Given the description of an element on the screen output the (x, y) to click on. 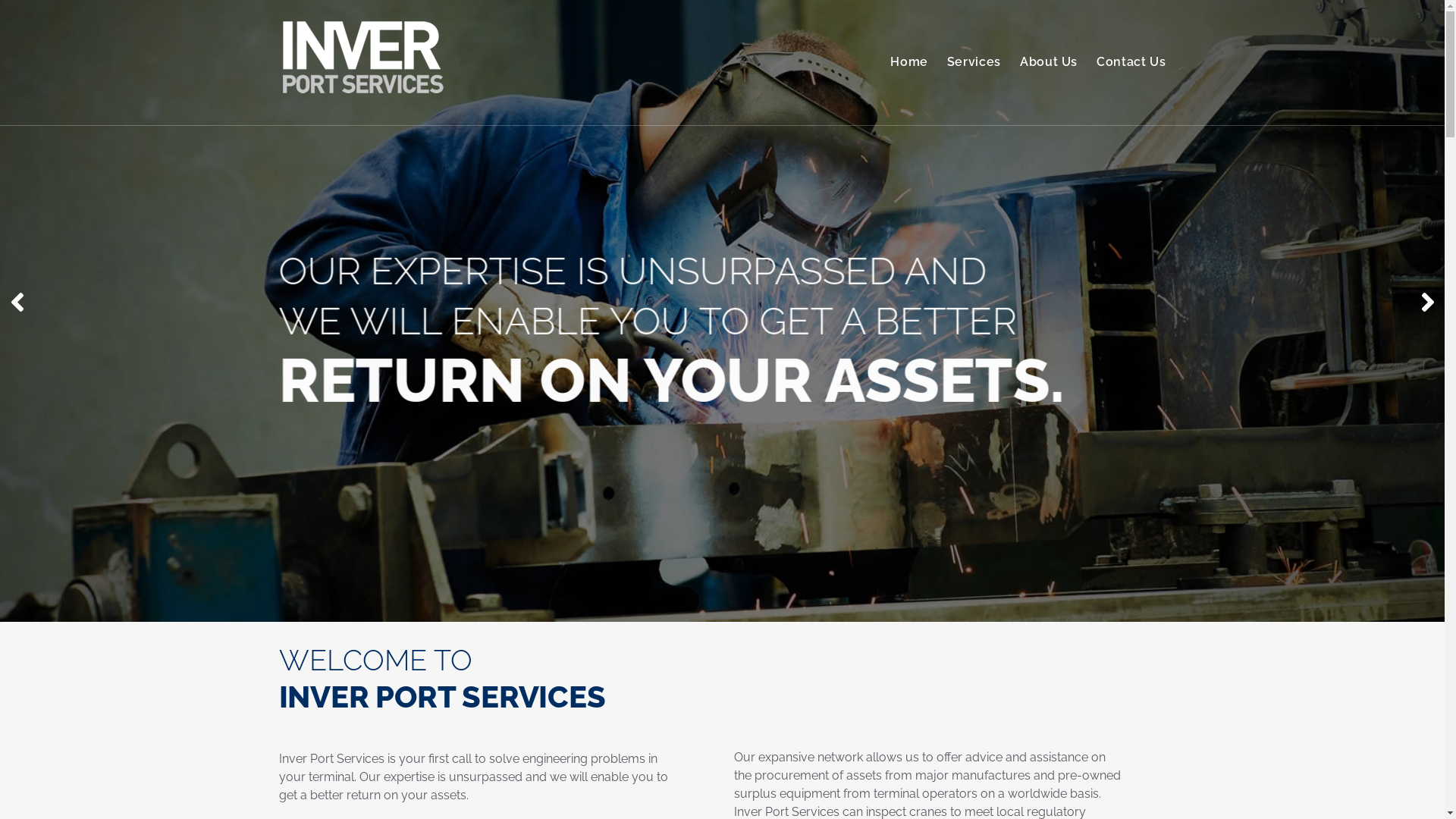
Contact Us Element type: text (1130, 61)
Services Element type: text (974, 61)
About Us Element type: text (1048, 61)
Home Element type: text (909, 61)
